Given the description of an element on the screen output the (x, y) to click on. 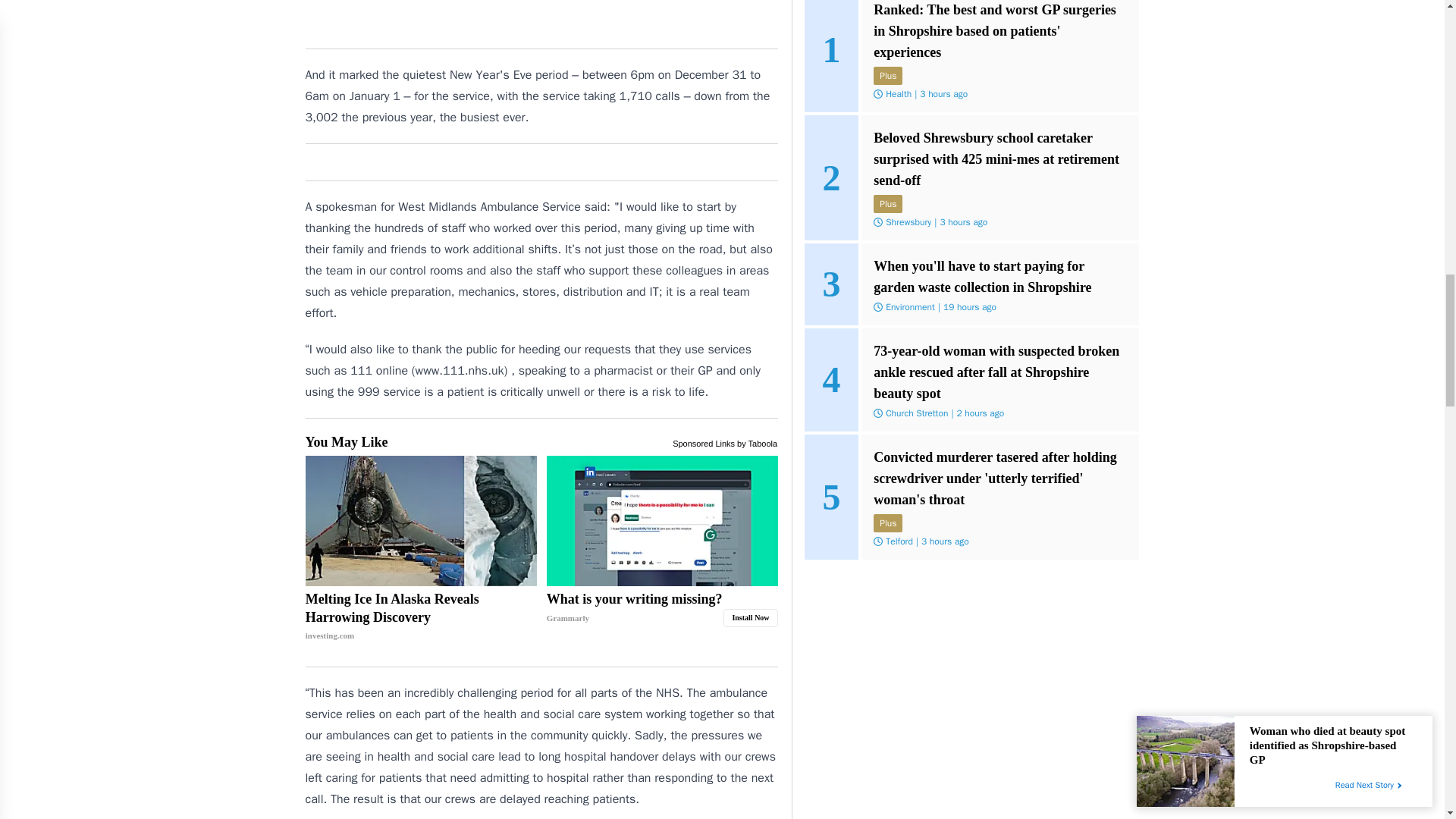
What is your writing missing? (662, 520)
What is your writing missing? (662, 608)
3rd party ad content (541, 18)
Melting Ice In Alaska Reveals Harrowing Discovery (421, 616)
Melting Ice In Alaska Reveals Harrowing Discovery (421, 520)
